Given the description of an element on the screen output the (x, y) to click on. 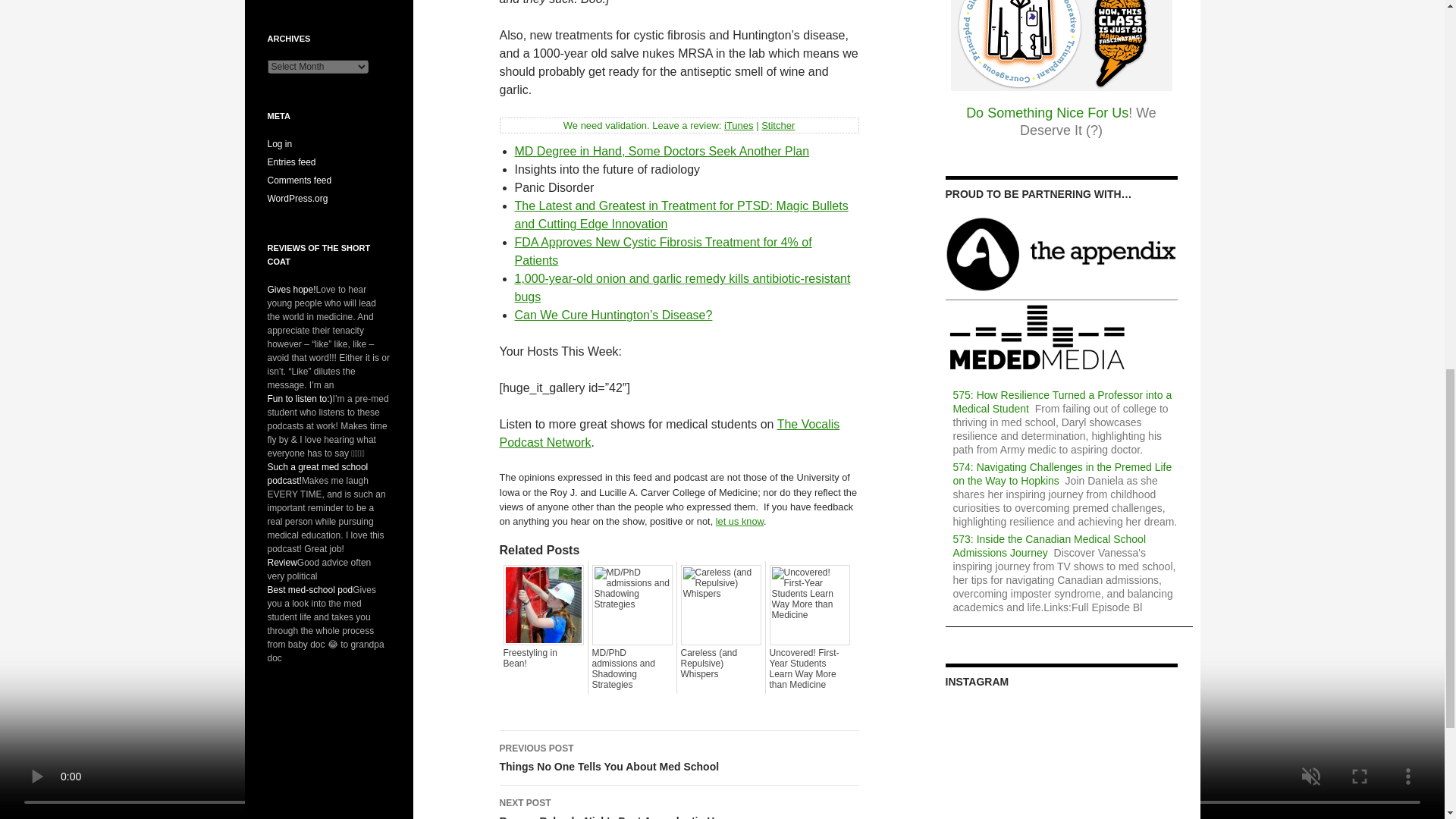
Freestyling in Bean! (543, 658)
Review The Short Coat Podcast on Stitcher (777, 125)
iTunes (738, 125)
let us know (739, 521)
The Vocalis Podcast Network (669, 432)
Stitcher (777, 125)
Review The Short Coat Podcast on iTunes (738, 125)
Talk to Us! (739, 521)
MD Degree in Hand, Some Doctors Seek Another Plan (661, 151)
